Given the description of an element on the screen output the (x, y) to click on. 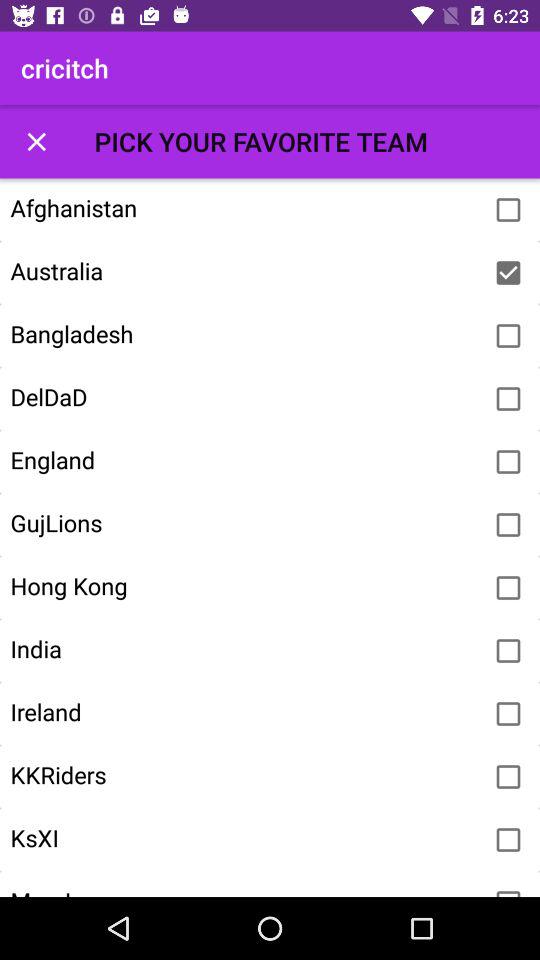
select england (508, 462)
